Given the description of an element on the screen output the (x, y) to click on. 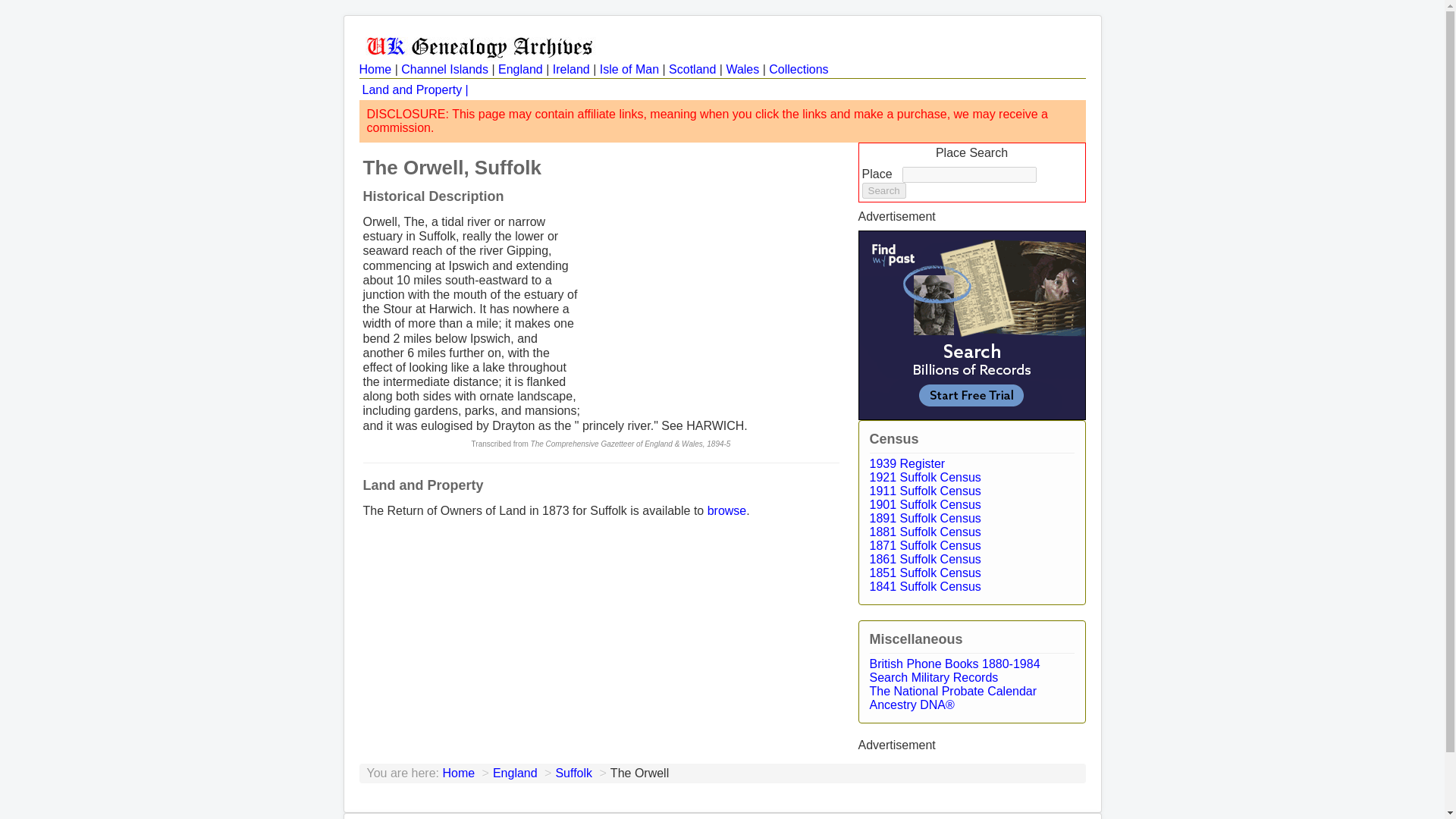
browse (726, 510)
go to Land and Property on this page (415, 89)
England (520, 69)
England (515, 772)
Home (458, 772)
Home page (375, 69)
Channel Islands (444, 69)
Suffolk (573, 772)
Home (375, 69)
Scotland (692, 69)
